Given the description of an element on the screen output the (x, y) to click on. 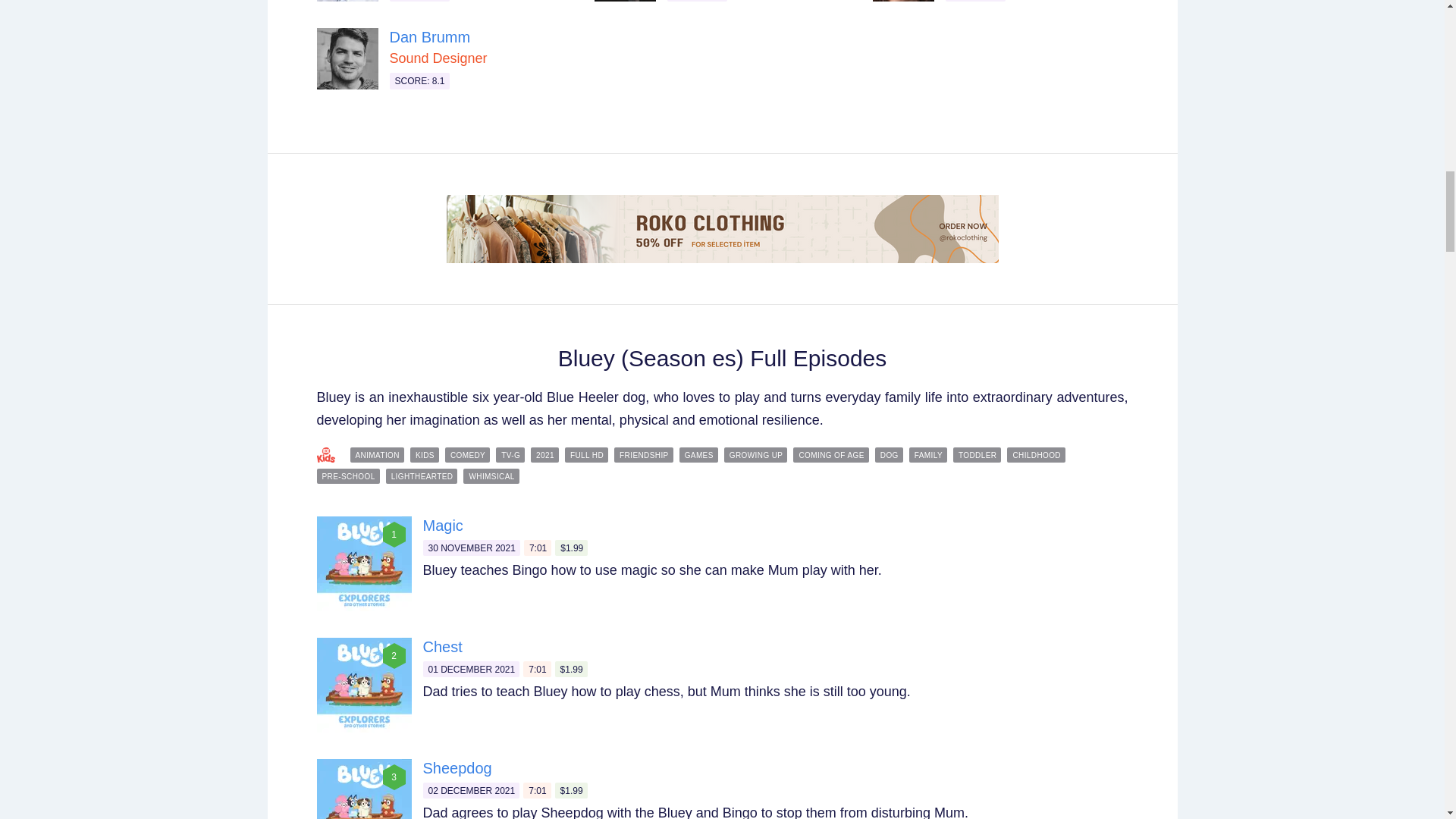
Magic (443, 524)
Chest (443, 646)
Sheepdog (457, 768)
